Given the description of an element on the screen output the (x, y) to click on. 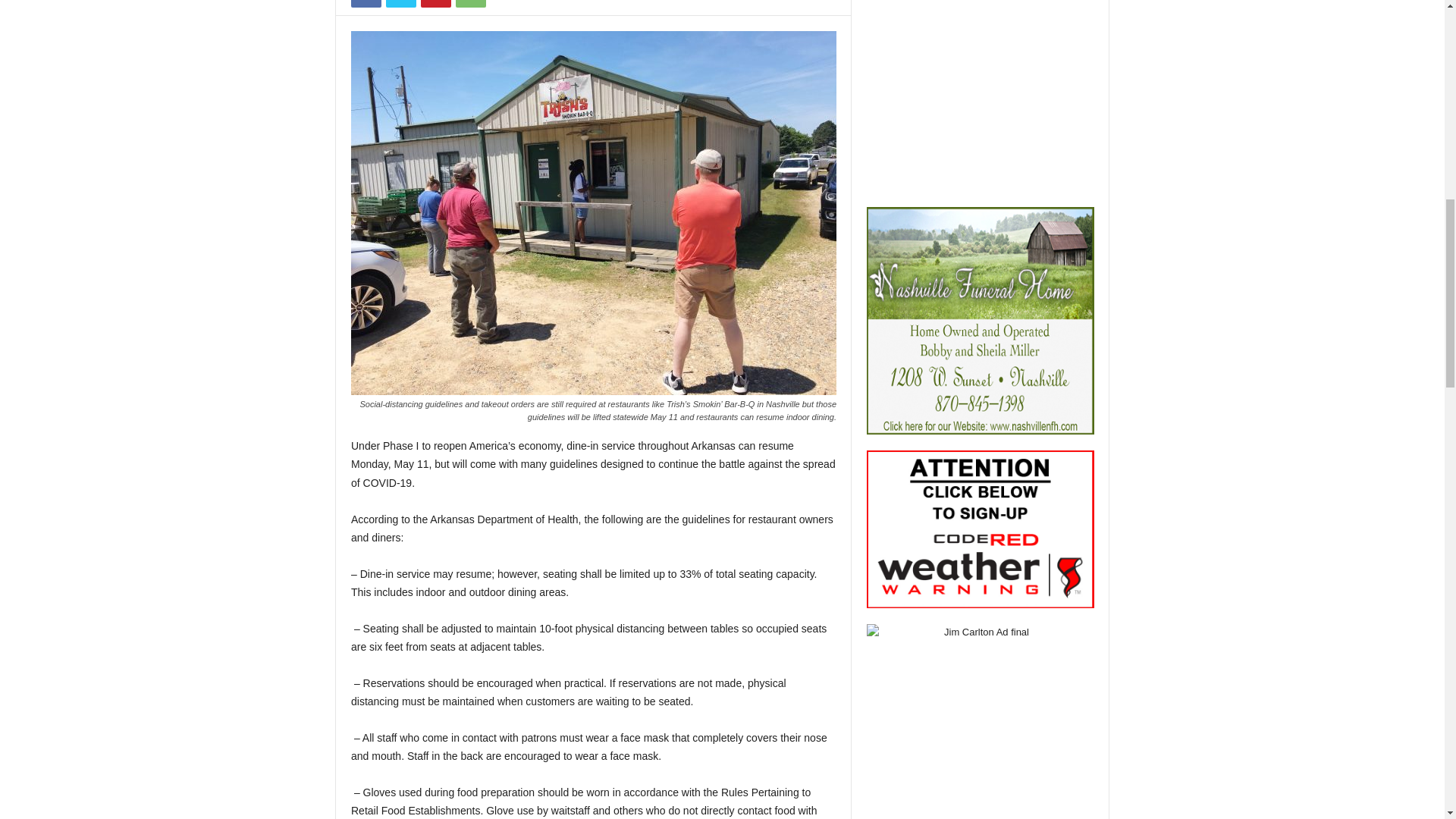
Pinterest (435, 3)
Twitter (400, 3)
Facebook (365, 3)
WhatsApp (470, 3)
